Given the description of an element on the screen output the (x, y) to click on. 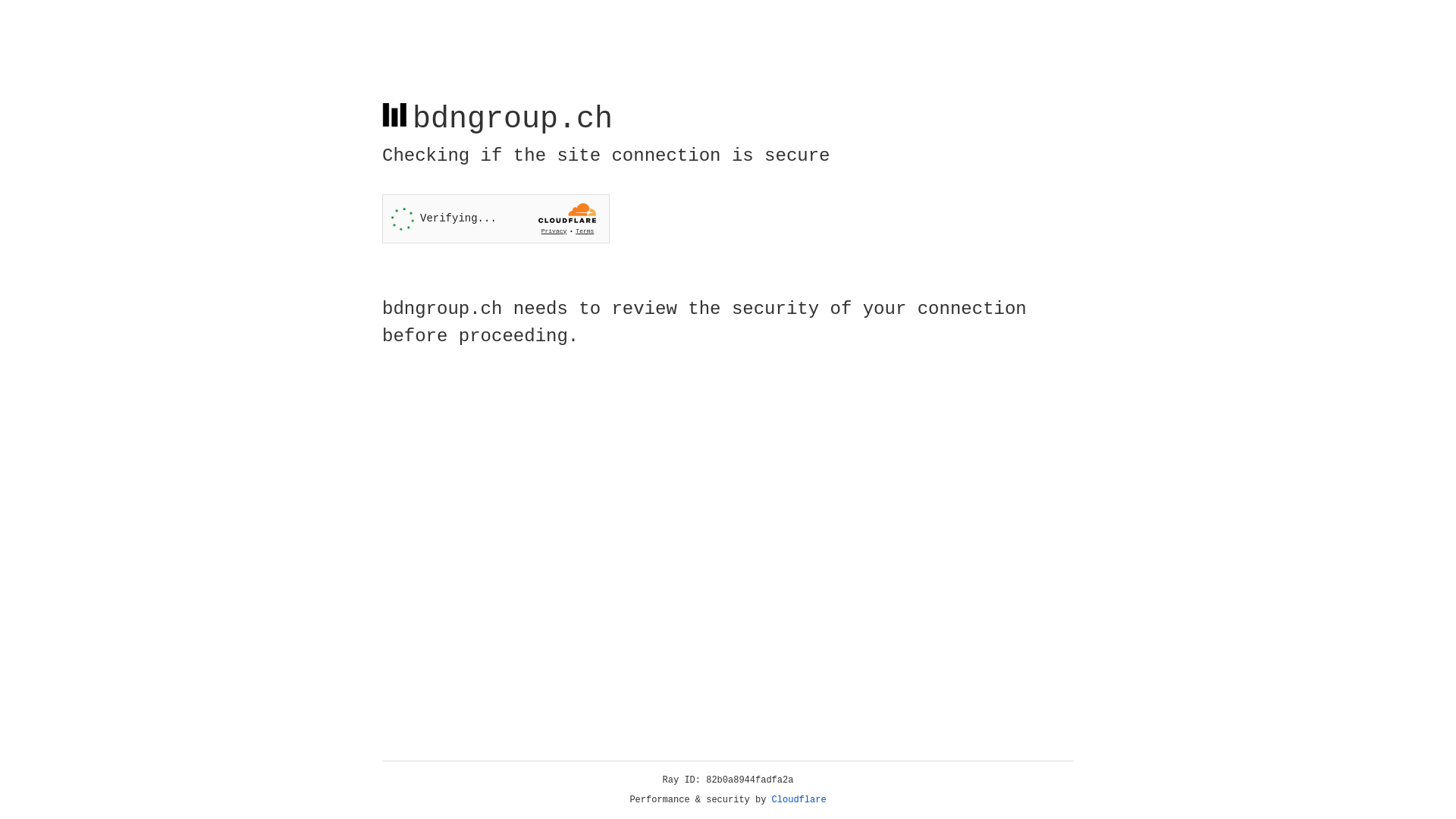
Widget containing a Cloudflare security challenge Element type: hover (495, 218)
Cloudflare Element type: text (798, 799)
